Given the description of an element on the screen output the (x, y) to click on. 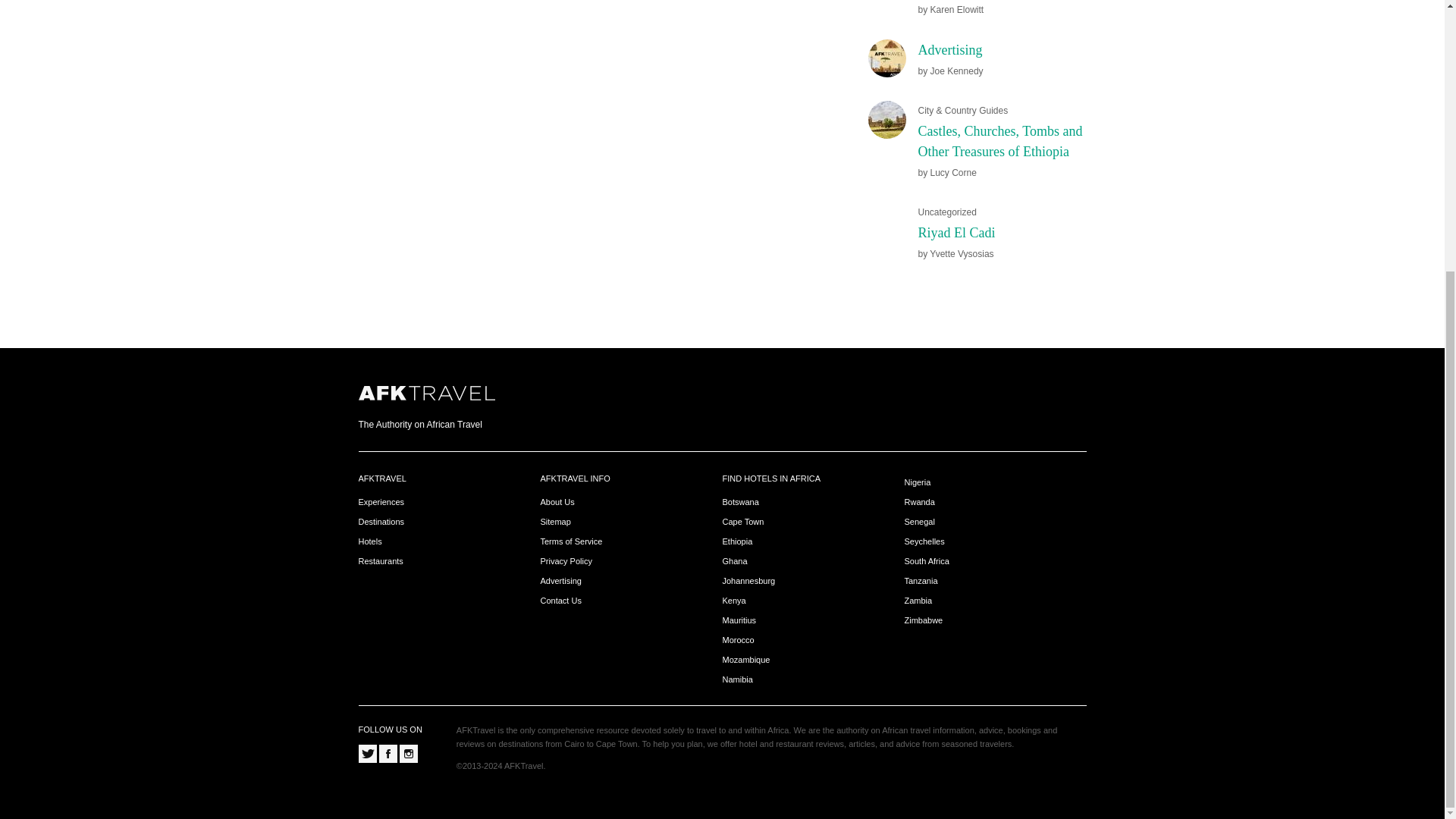
Advertising (949, 50)
Castles, Churches, Tombs and Other Treasures of Ethiopia (999, 141)
